Given the description of an element on the screen output the (x, y) to click on. 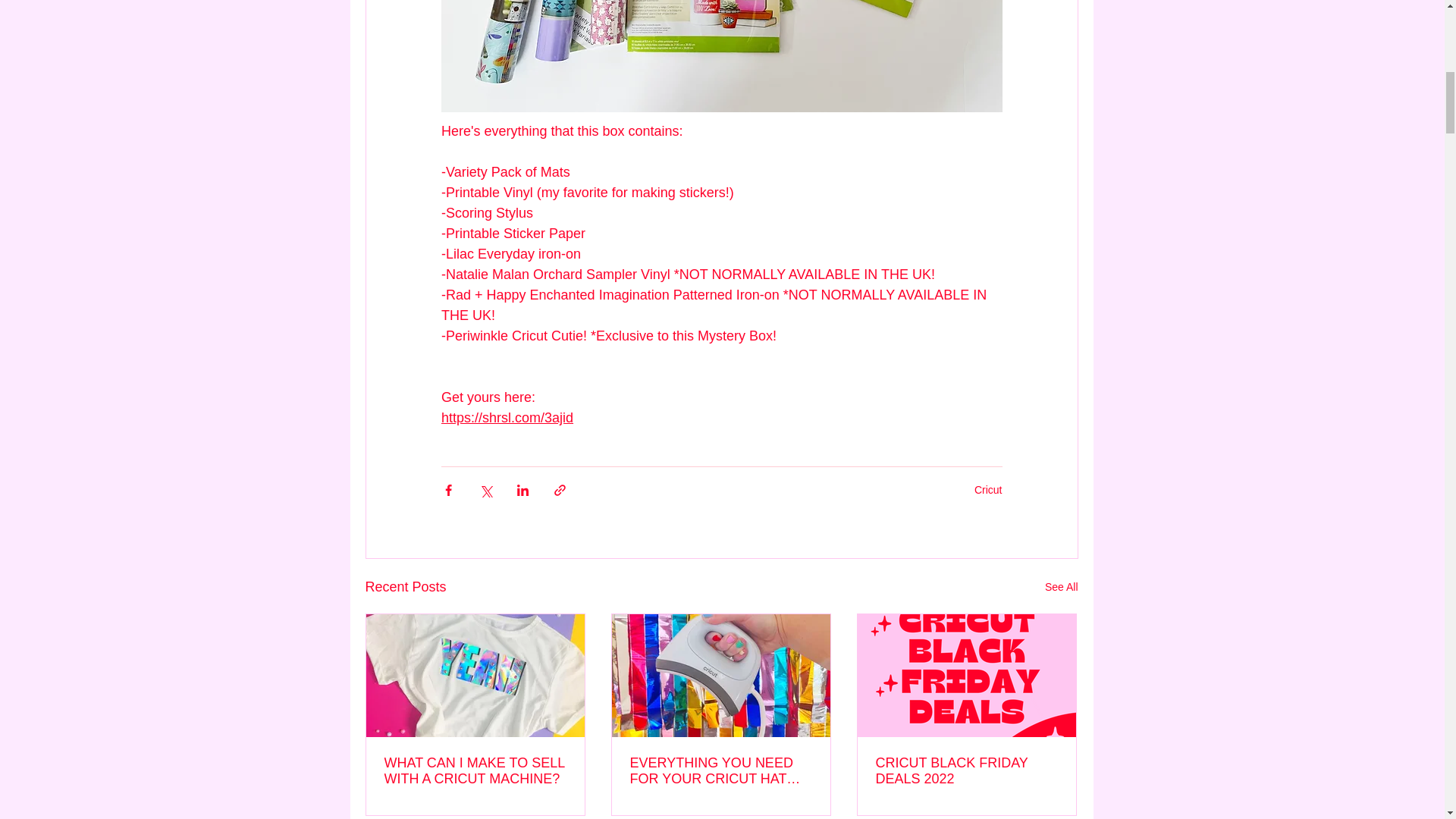
See All (1061, 587)
Cricut (988, 490)
WHAT CAN I MAKE TO SELL WITH A CRICUT MACHINE? (475, 771)
CRICUT BLACK FRIDAY DEALS 2022 (966, 771)
EVERYTHING YOU NEED FOR YOUR CRICUT HAT PRESS (719, 771)
